Given the description of an element on the screen output the (x, y) to click on. 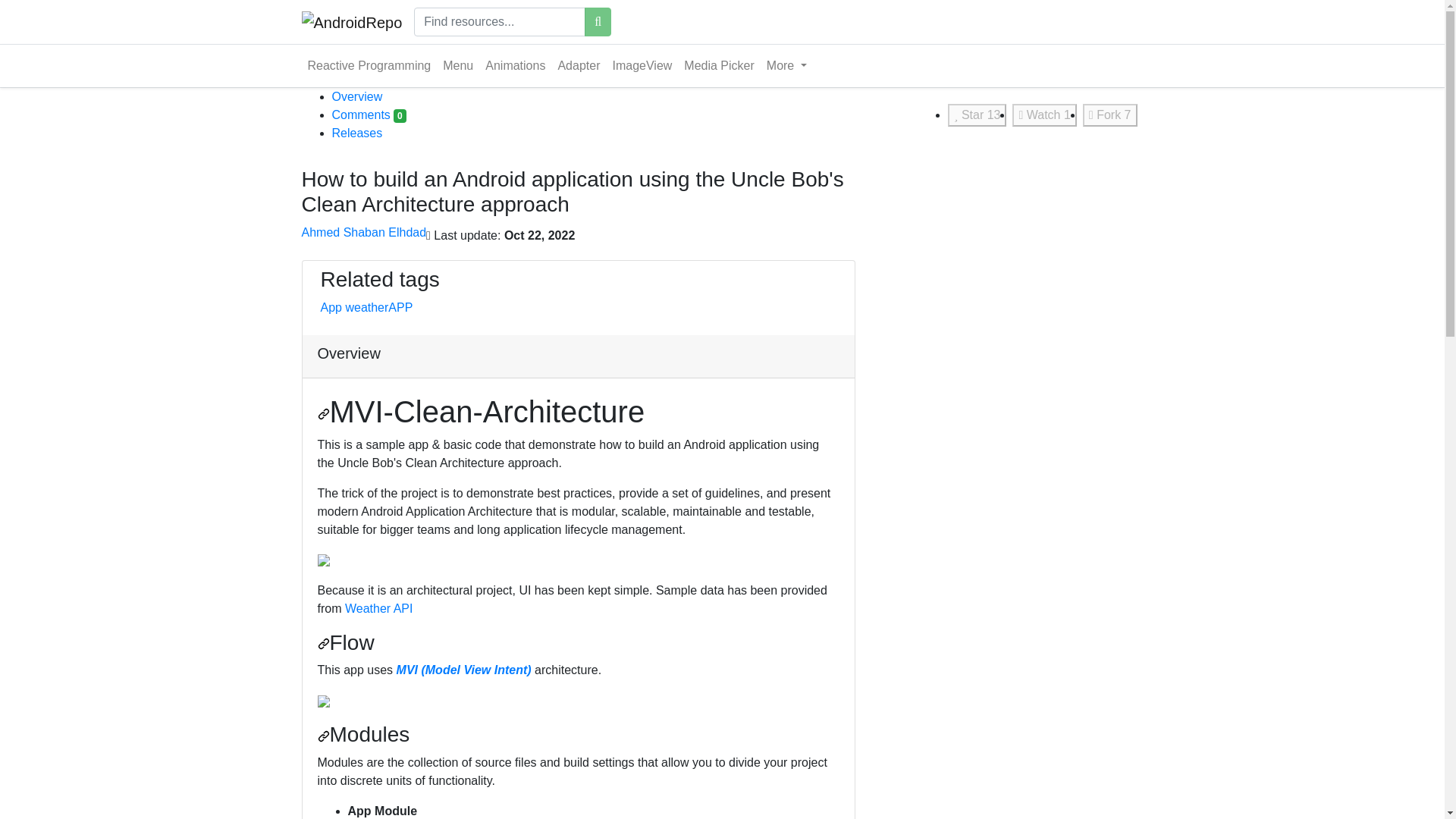
Animations (515, 65)
More (786, 65)
Reactive Programming (369, 65)
Adapter (578, 65)
ImageView (641, 65)
Menu (457, 65)
Media Picker (719, 65)
